Given the description of an element on the screen output the (x, y) to click on. 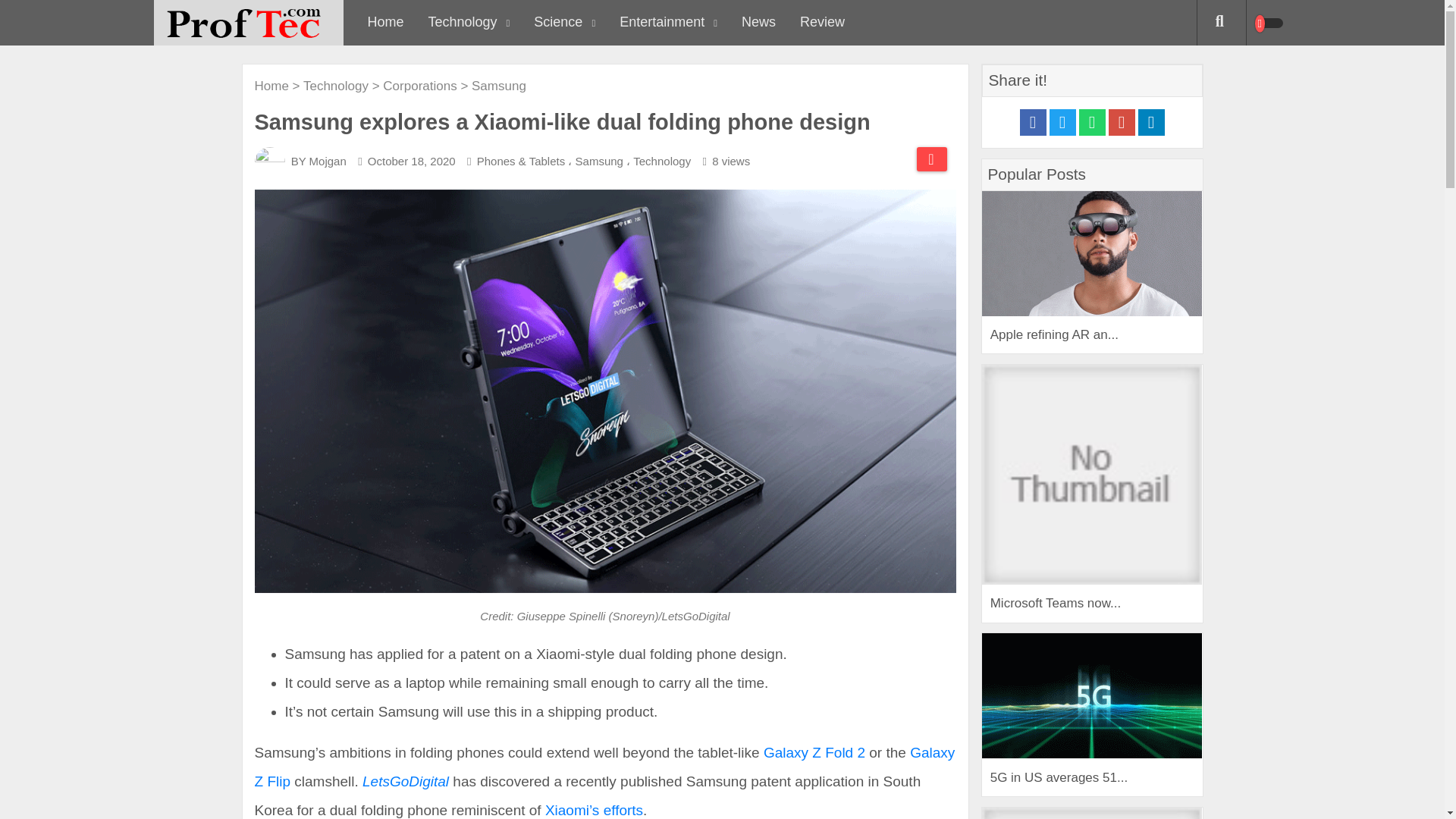
Science (564, 22)
Home (384, 22)
share with email (1121, 121)
share with facebook (1032, 121)
share with linkedin (1150, 121)
Technology (469, 22)
Entertainment (668, 22)
share with twitter (1062, 121)
share with whatsapp (1091, 121)
